Given the description of an element on the screen output the (x, y) to click on. 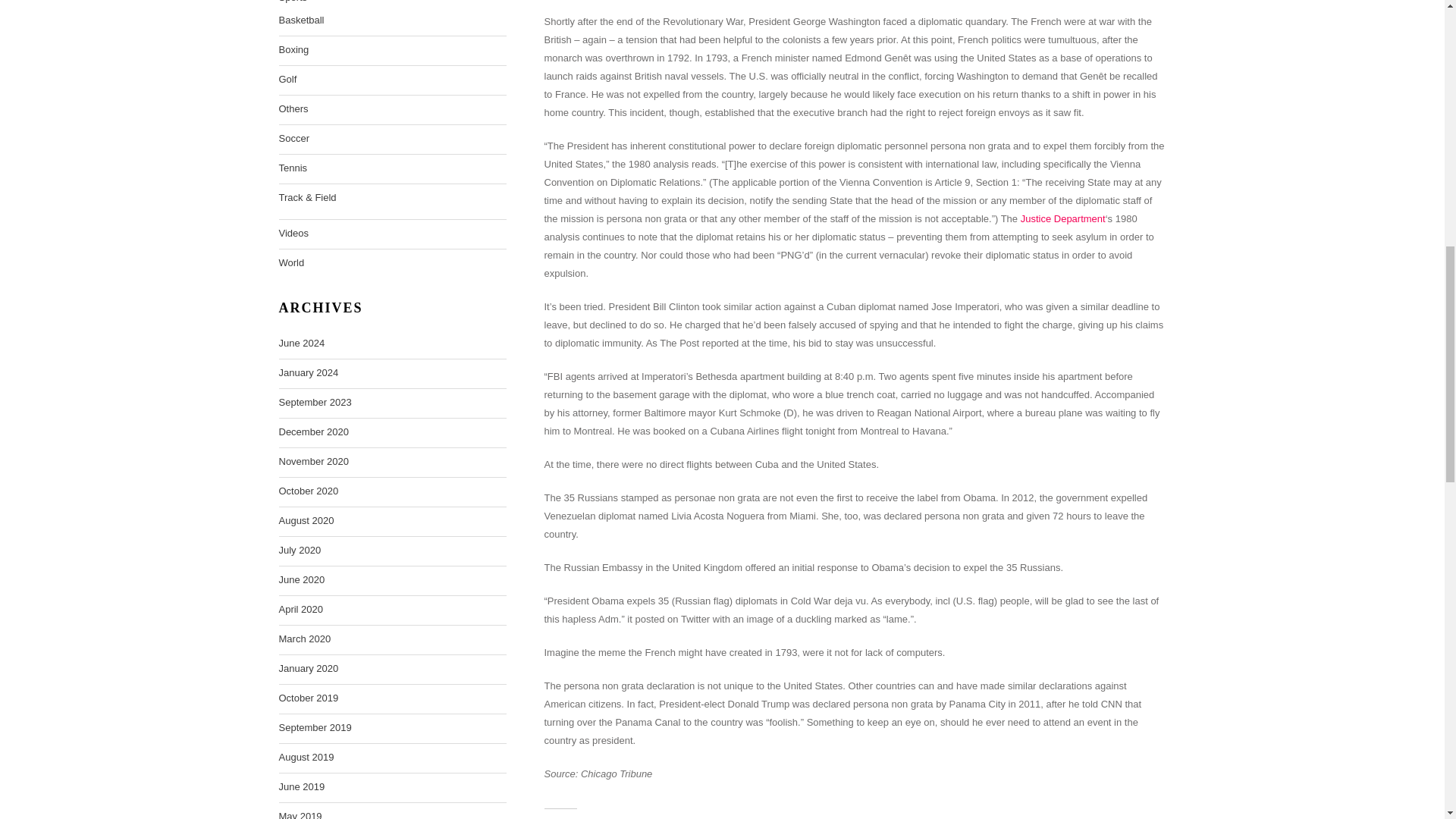
Justice Department (1062, 218)
U.S. Department of Justice (1062, 218)
